Given the description of an element on the screen output the (x, y) to click on. 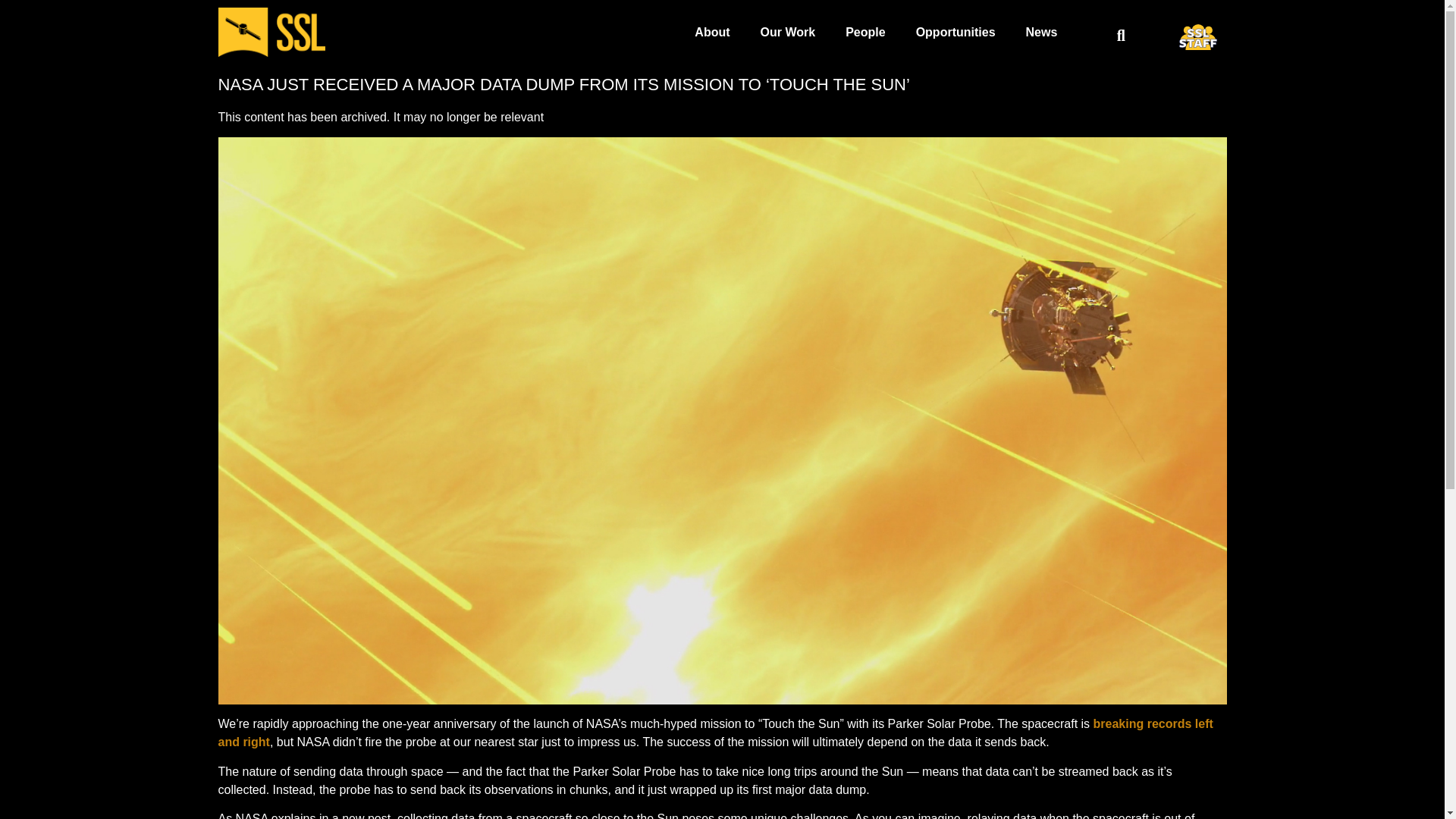
About (711, 32)
People (864, 32)
Opportunities (955, 32)
Our Work (788, 32)
News (1041, 32)
